Given the description of an element on the screen output the (x, y) to click on. 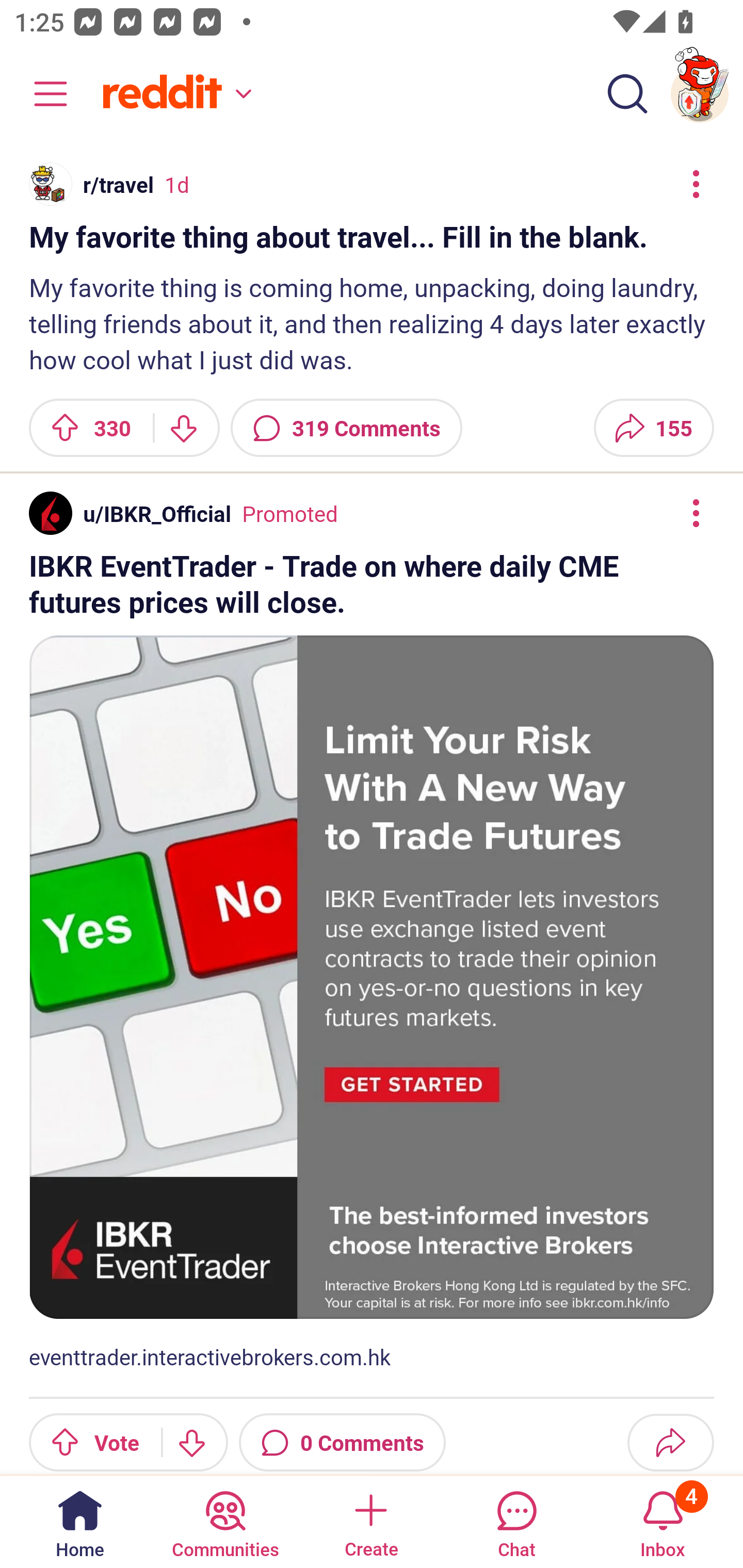
Search (626, 93)
TestAppium002 account (699, 93)
Community menu (41, 94)
Home feed (173, 94)
Home (80, 1520)
Communities (225, 1520)
Create a post Create (370, 1520)
Chat (516, 1520)
Inbox, has 4 notifications 4 Inbox (662, 1520)
